Given the description of an element on the screen output the (x, y) to click on. 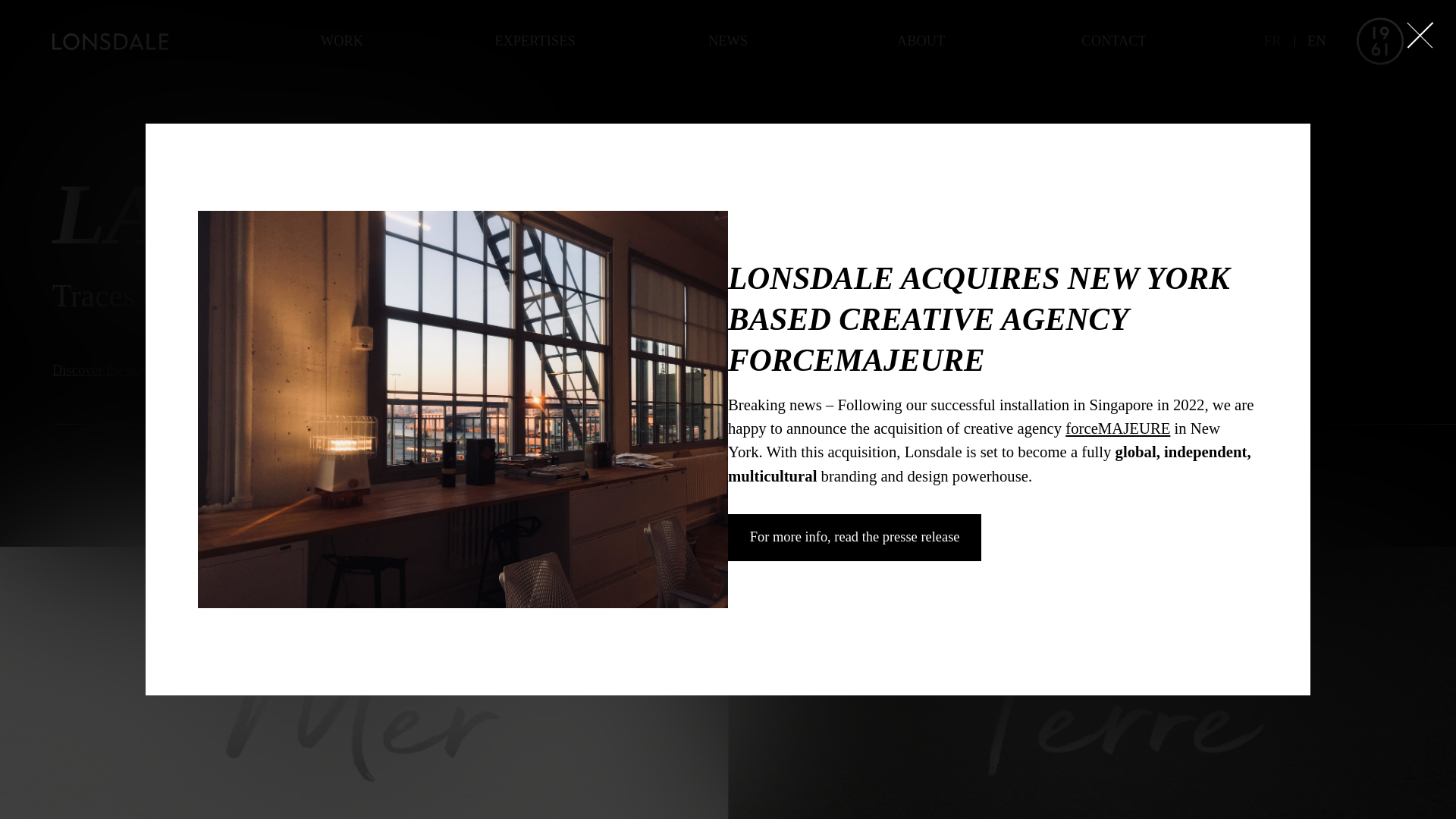
EN (1316, 41)
EXPERTISES (534, 41)
NEWS (728, 41)
WORK (342, 41)
ABOUT (920, 41)
CONTACT (1114, 41)
FR (1272, 41)
